Given the description of an element on the screen output the (x, y) to click on. 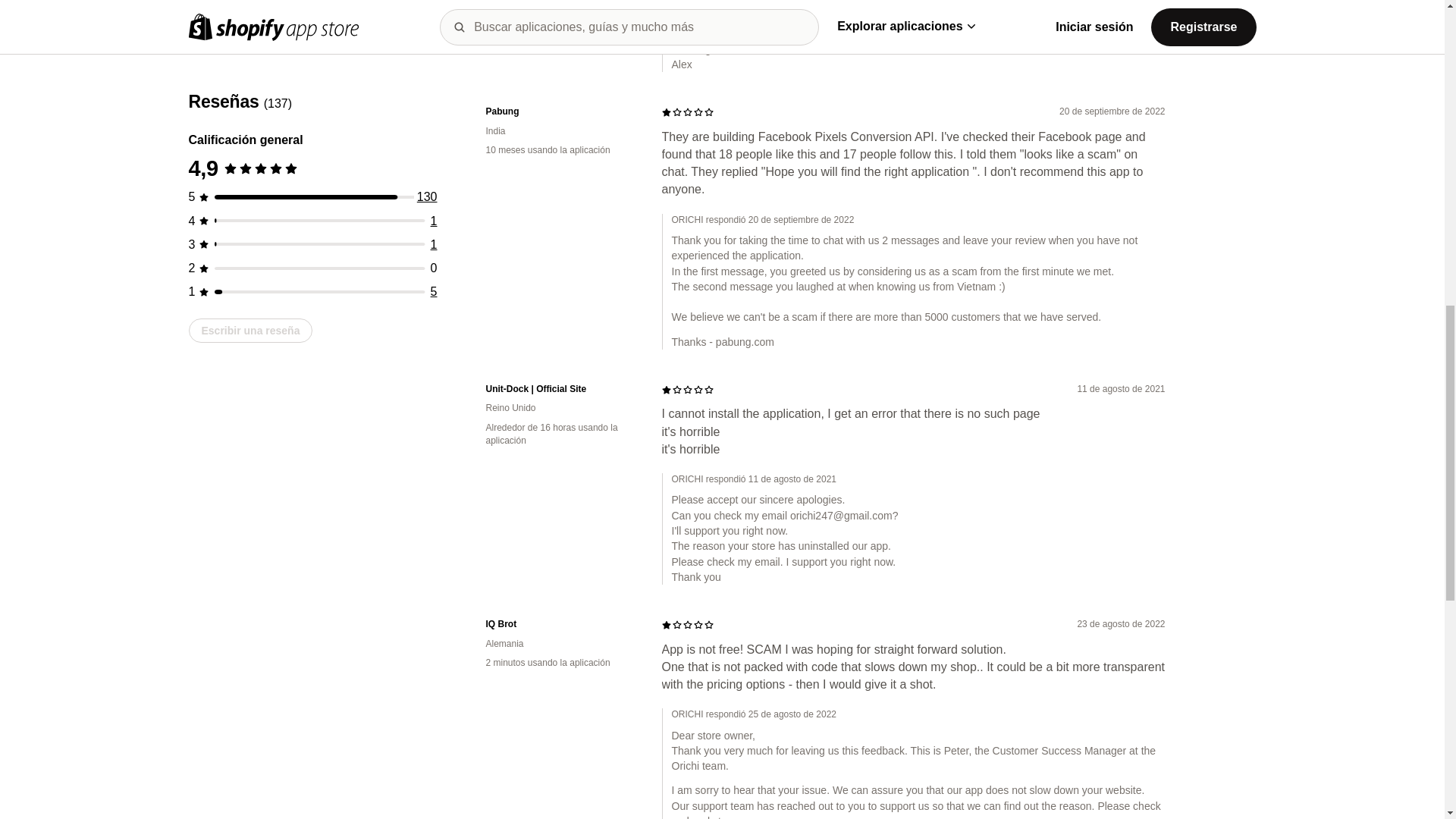
Pabung (560, 111)
IQ Brot (560, 624)
